Given the description of an element on the screen output the (x, y) to click on. 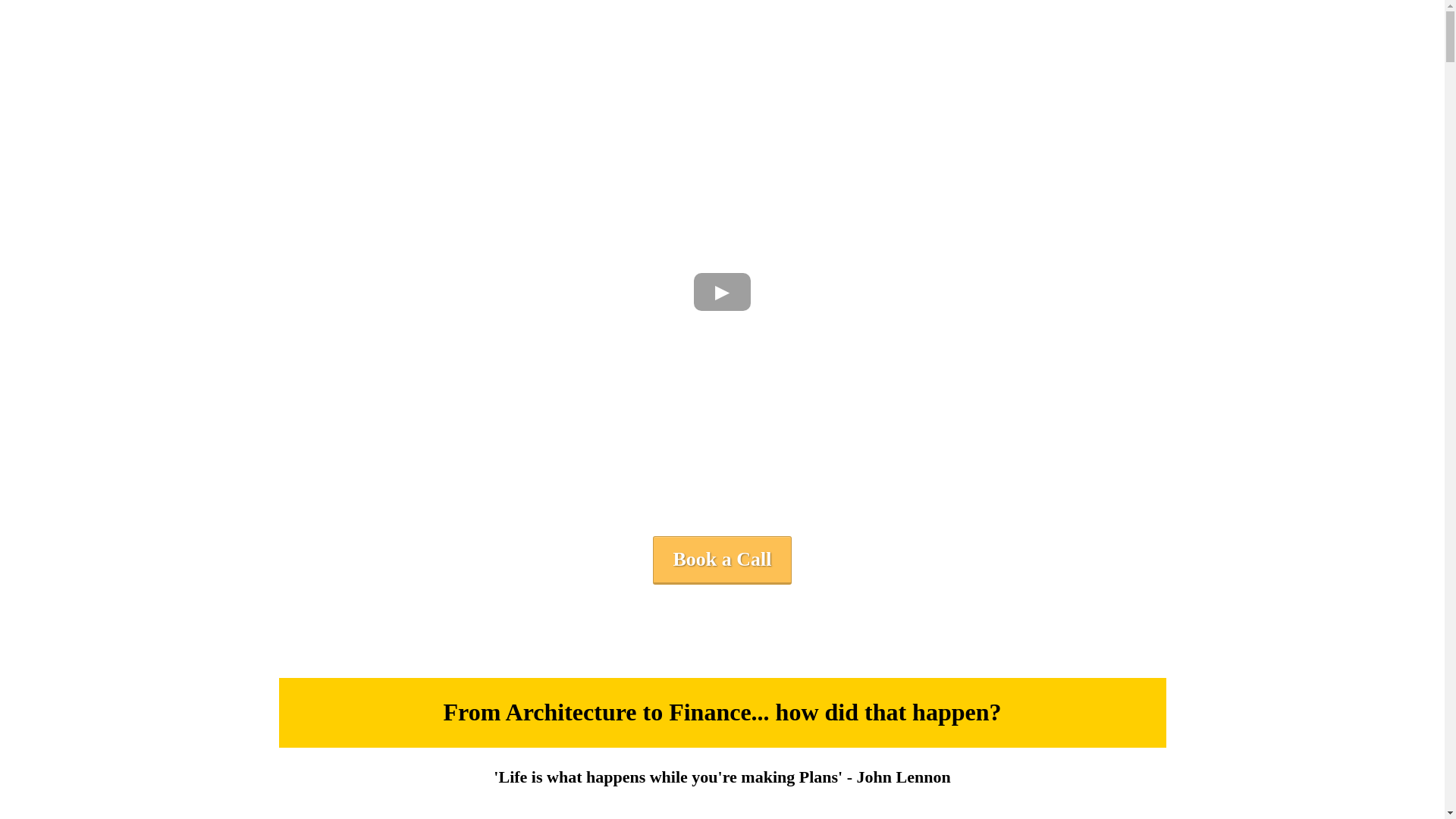
Book a Call (721, 560)
